Given the description of an element on the screen output the (x, y) to click on. 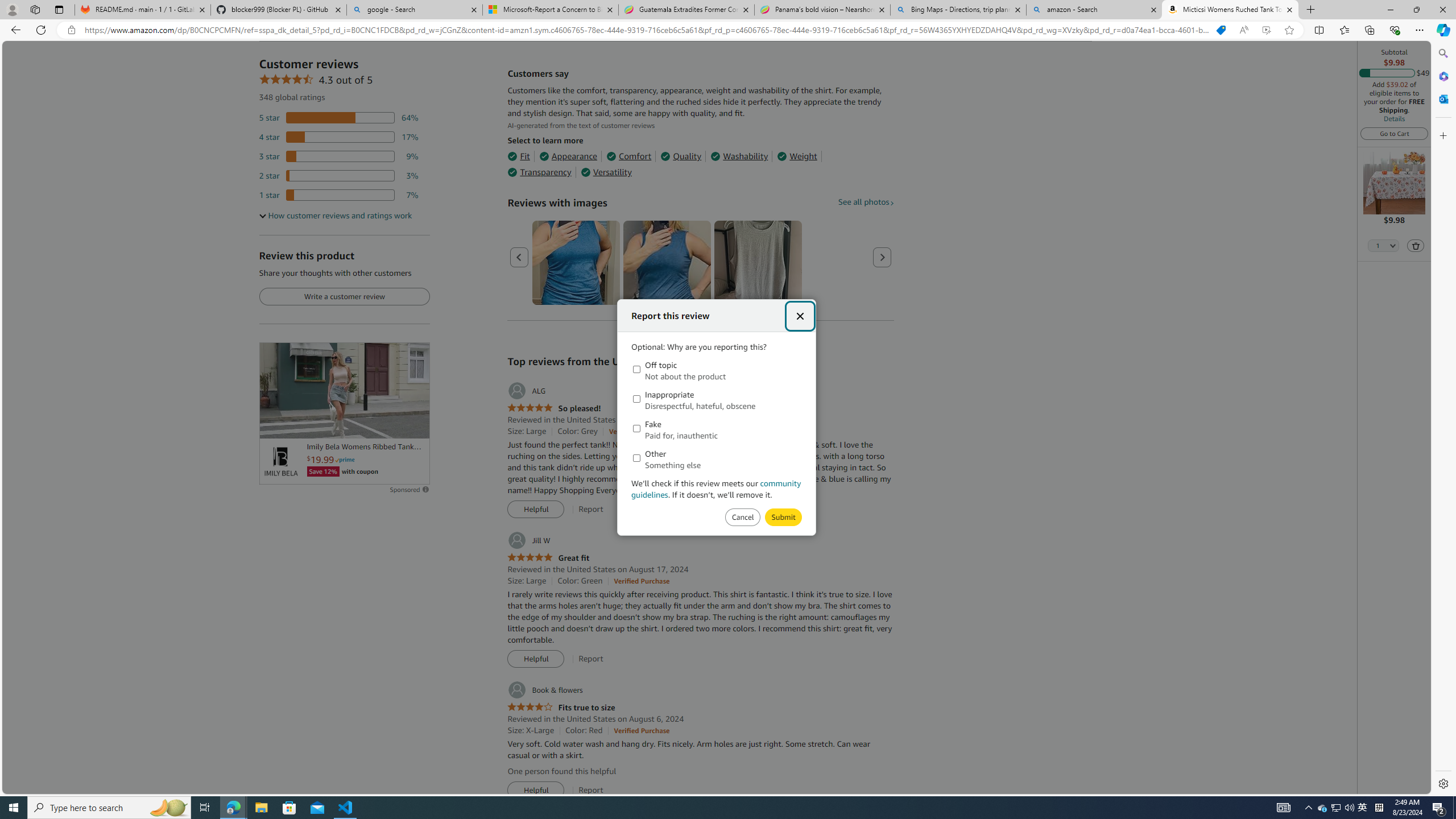
Shopping in Microsoft Edge (1220, 29)
Previous page (518, 256)
Write a customer review (344, 296)
Outlook (1442, 98)
See all photos (865, 201)
5.0 out of 5 stars So pleased! (553, 408)
Appearance (568, 156)
Logo (280, 461)
Submit (742, 517)
7 percent of reviews have 1 stars (339, 195)
